Given the description of an element on the screen output the (x, y) to click on. 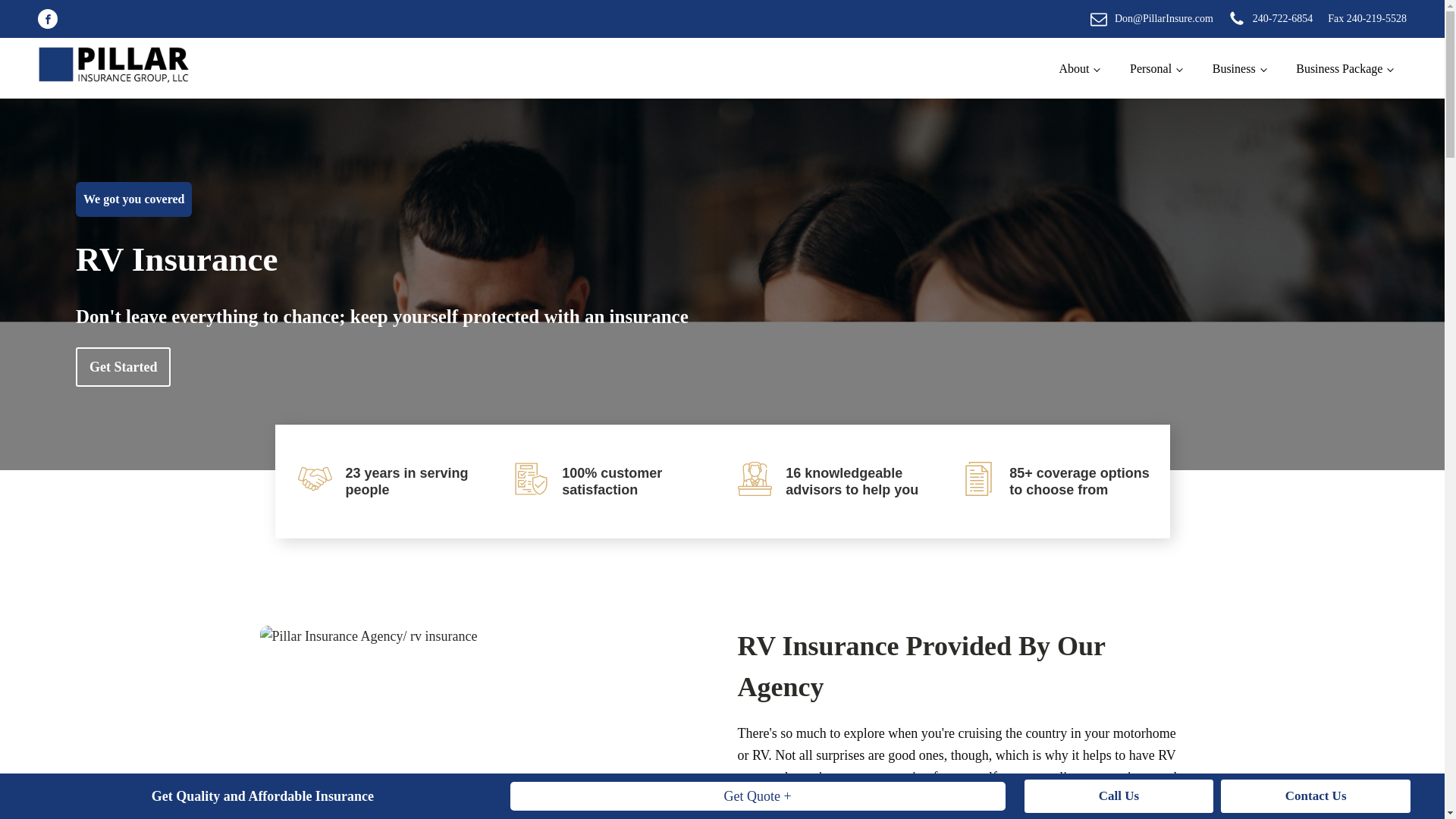
Personal (1155, 68)
Business Package (1344, 68)
Business (1238, 68)
240-722-6854 (1270, 18)
About (1079, 68)
Fax 240-219-5528 (1366, 18)
Get Started (122, 367)
